Given the description of an element on the screen output the (x, y) to click on. 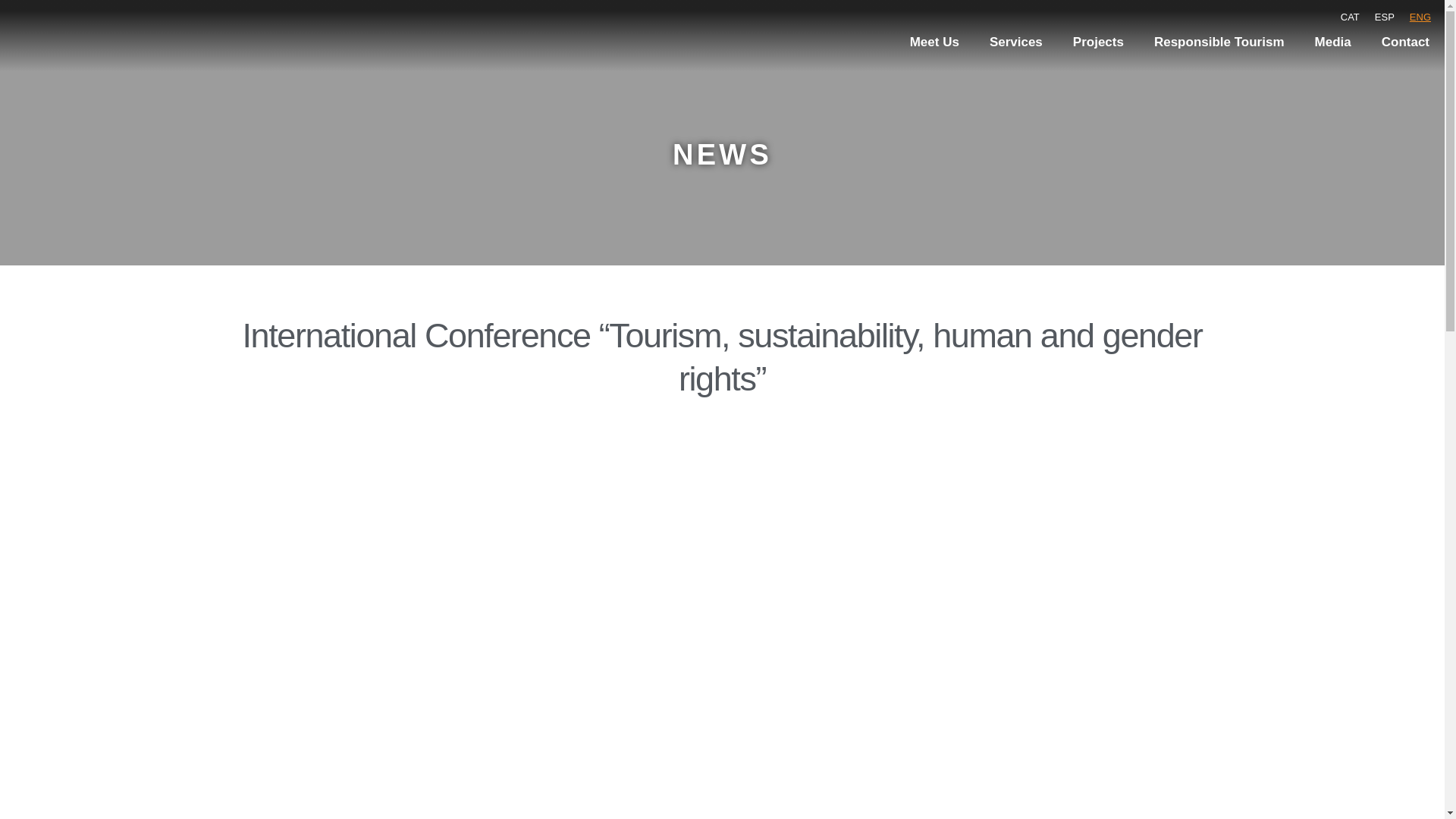
Services (1016, 42)
ENG (1420, 16)
Meet Us (934, 42)
Responsible Tourism (1219, 42)
CAT (1350, 16)
ESP (1384, 16)
Media (1333, 42)
Projects (1098, 42)
